Given the description of an element on the screen output the (x, y) to click on. 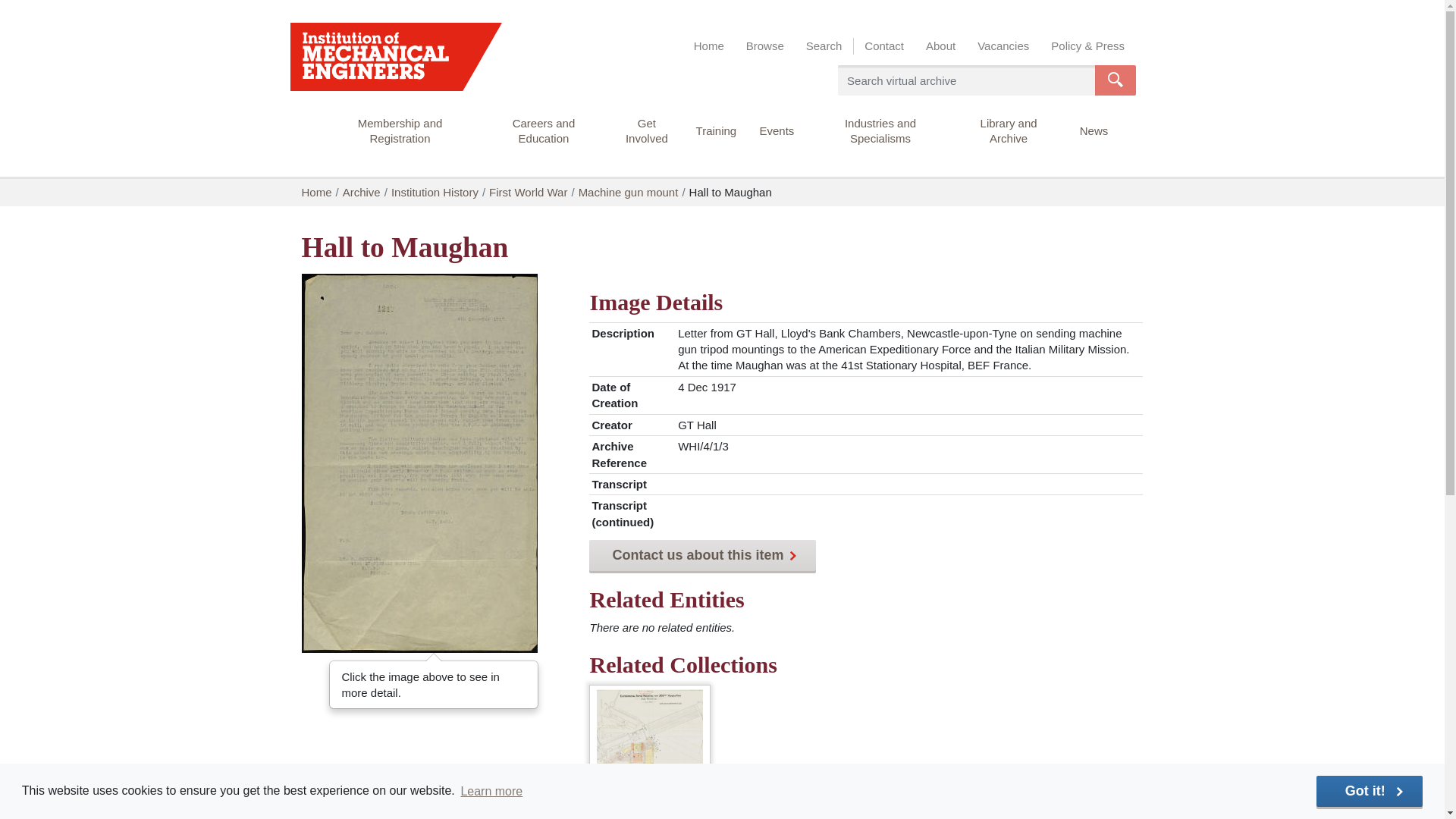
Vacancies (1003, 45)
Contact (884, 45)
Get Involved (646, 137)
Learn more (491, 790)
Machine gun mount (649, 742)
Search (823, 45)
About (940, 45)
Membership and Registration (399, 137)
Home (708, 45)
Careers and Education (544, 137)
